Given the description of an element on the screen output the (x, y) to click on. 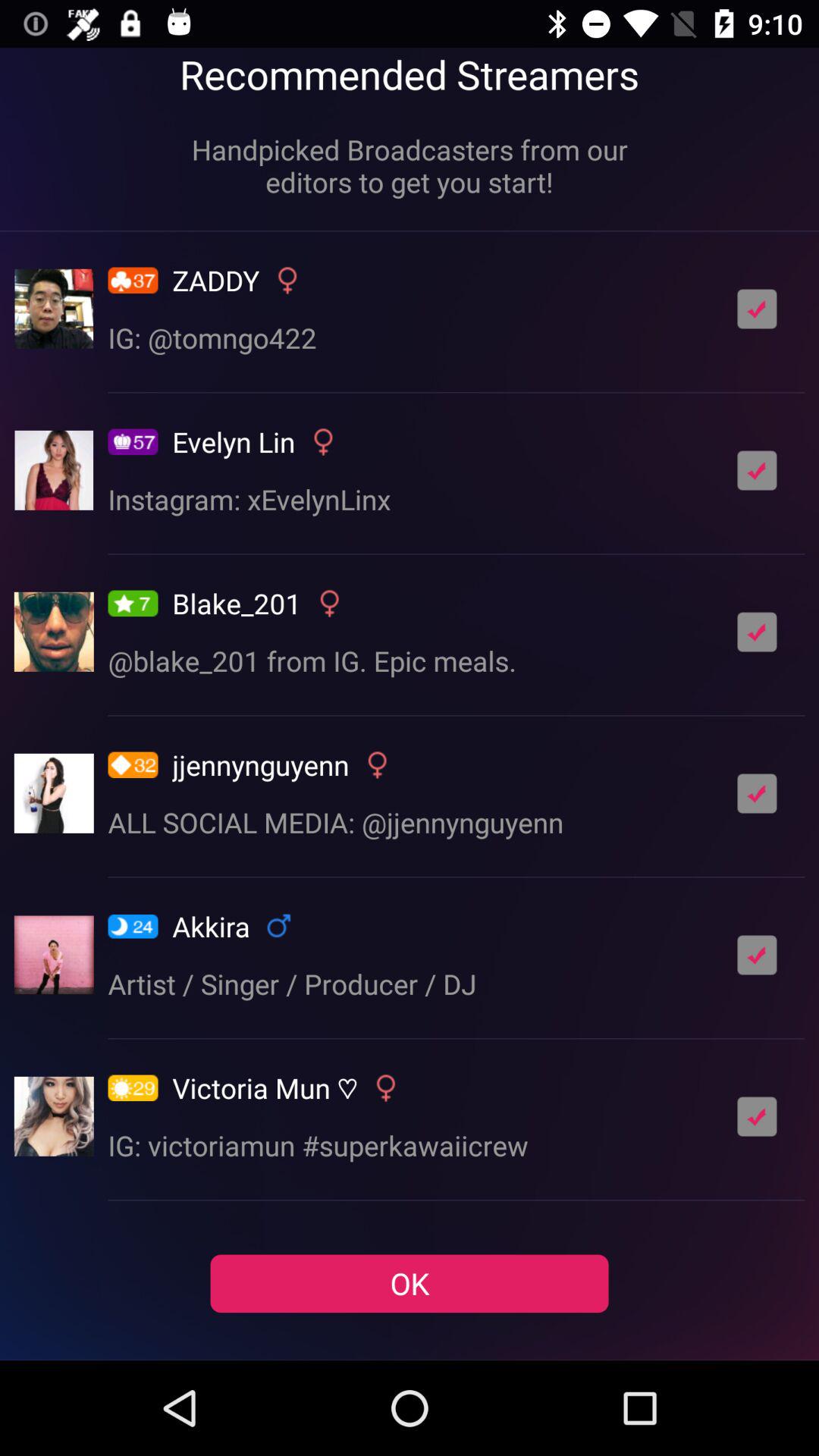
uncheck box (756, 470)
